Given the description of an element on the screen output the (x, y) to click on. 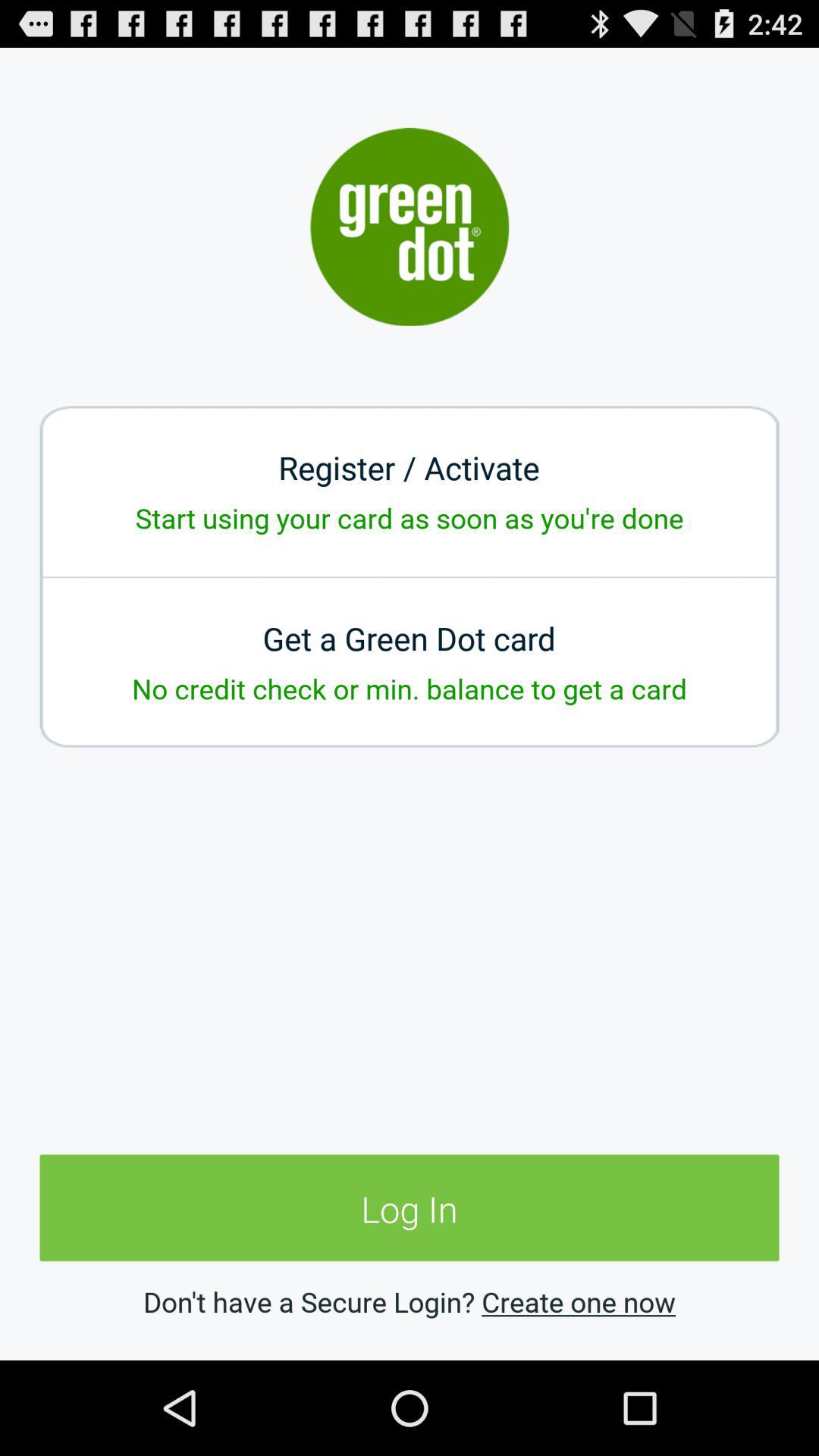
turn off the app below the no credit check item (409, 1208)
